Given the description of an element on the screen output the (x, y) to click on. 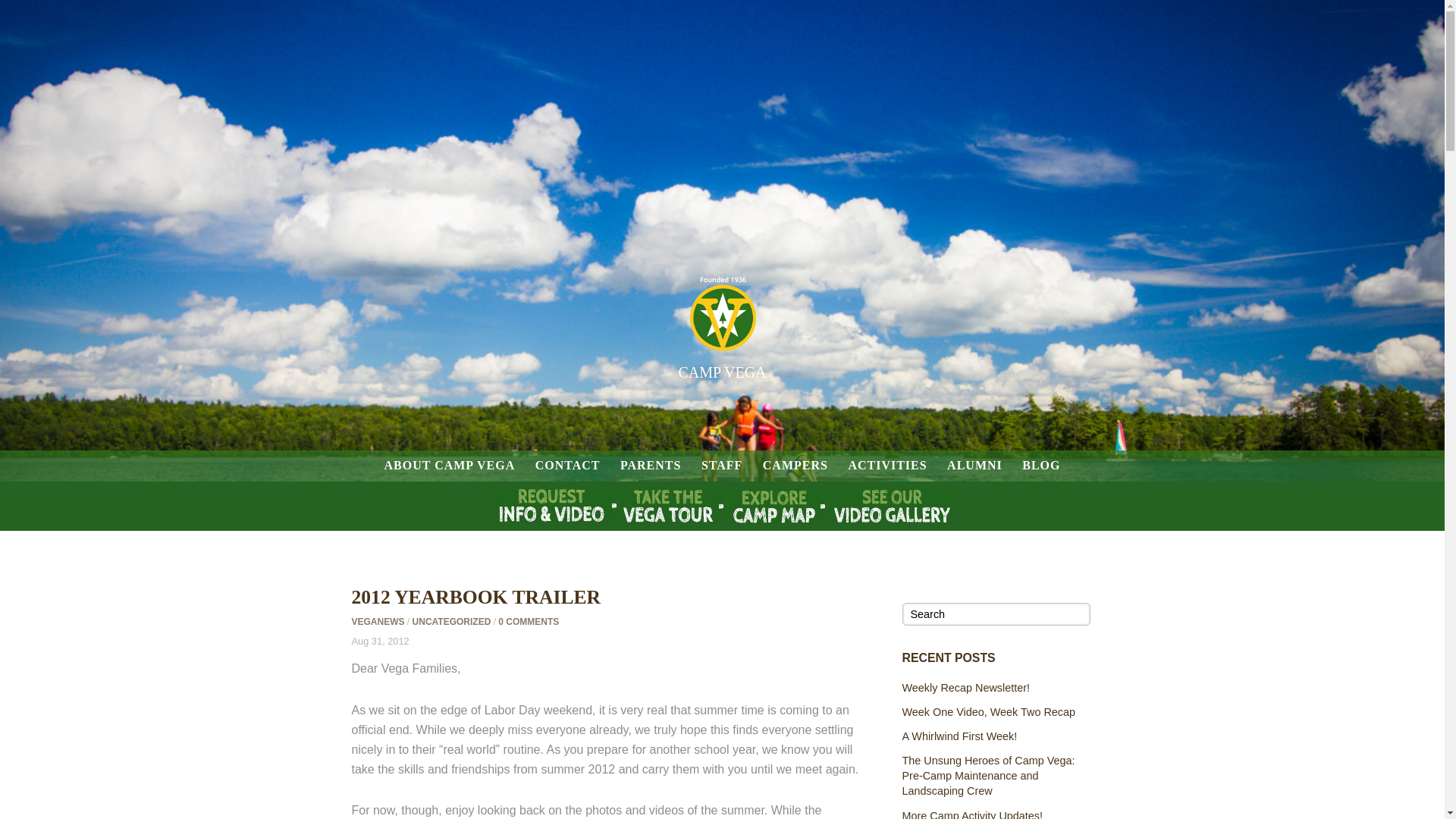
Contact Vega Summer Camp (567, 465)
PARENTS (650, 465)
STAFF (721, 465)
Parents (650, 465)
CAMPERS (795, 465)
ABOUT CAMP VEGA (449, 465)
CONTACT (567, 465)
Girls Summer Camp on Echo Lake in Maine (722, 334)
About Camp Vega (449, 465)
ACTIVITIES (886, 465)
